Given the description of an element on the screen output the (x, y) to click on. 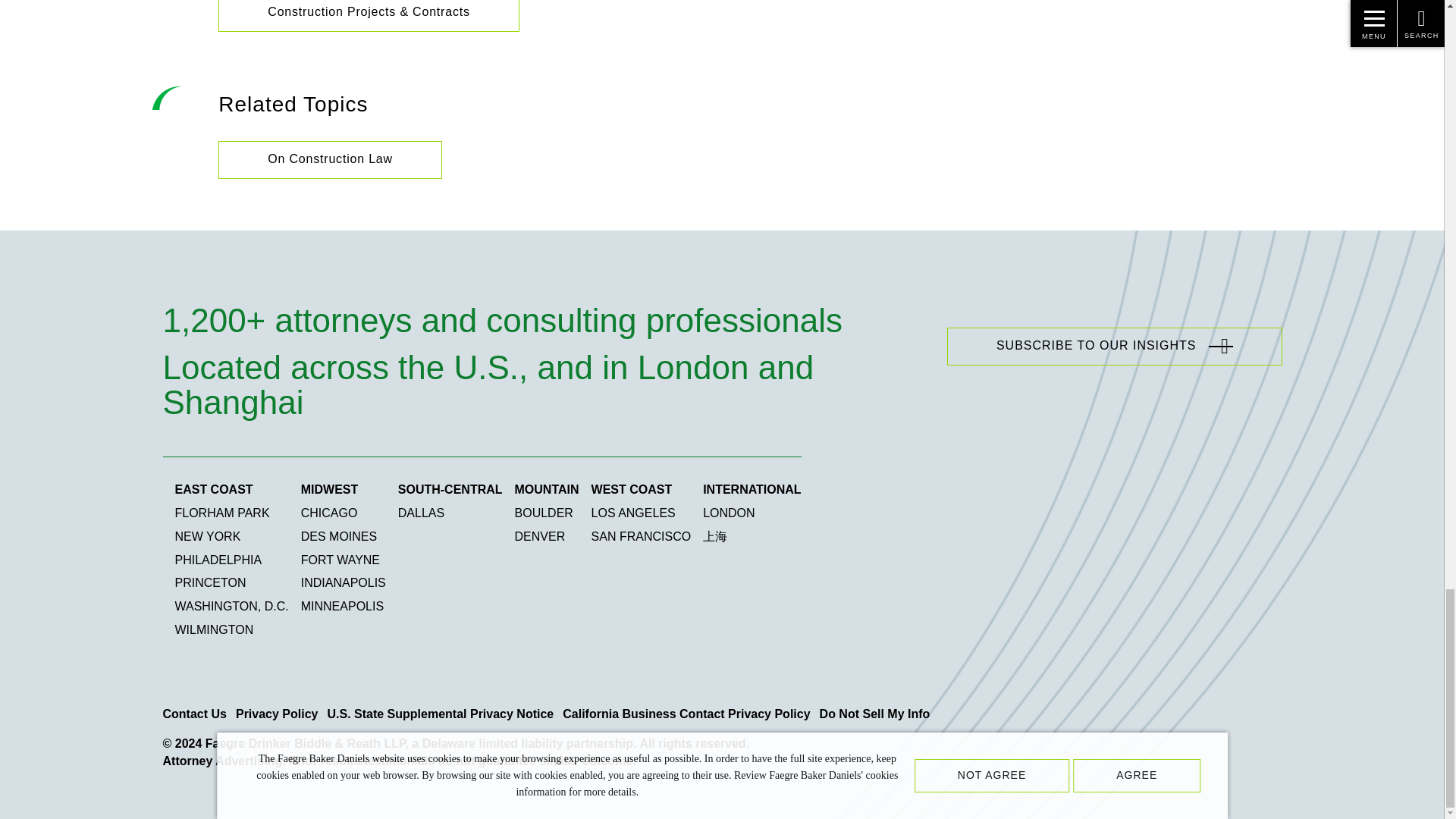
On Construction Law (330, 159)
Located across the U.S., and in London and Shanghai (541, 379)
SUBSCRIBE TO OUR INSIGHTS (1114, 346)
FLORHAM PARK (221, 512)
